Given the description of an element on the screen output the (x, y) to click on. 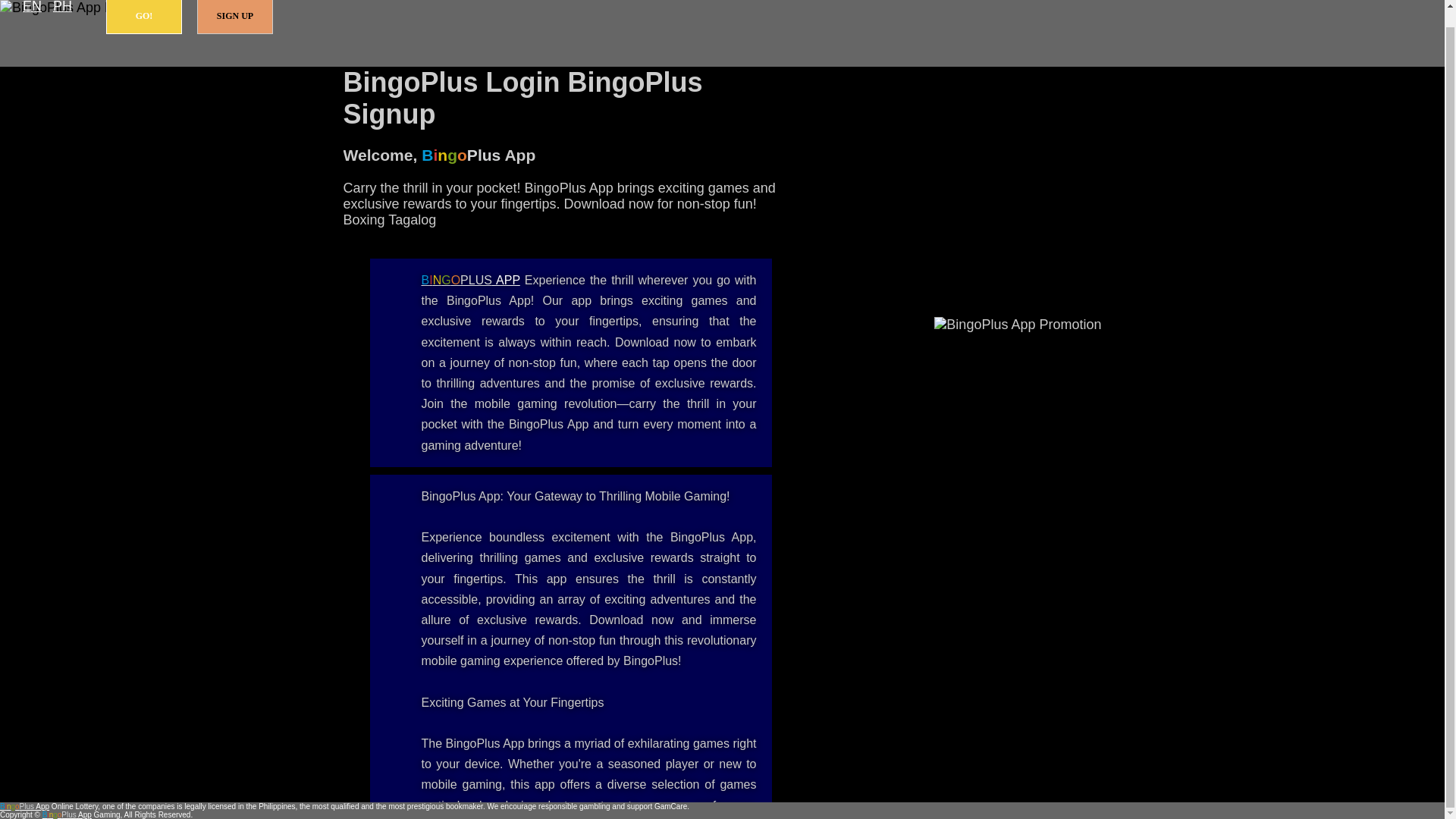
BingoPlus App (24, 806)
GO! (144, 17)
BINGOPLUS APP (470, 279)
EN (32, 7)
BingoPlus App (470, 279)
English - Filipino (32, 7)
Pilipinas - Filipino (61, 7)
PH (61, 7)
SIGN UP (234, 17)
